Given the description of an element on the screen output the (x, y) to click on. 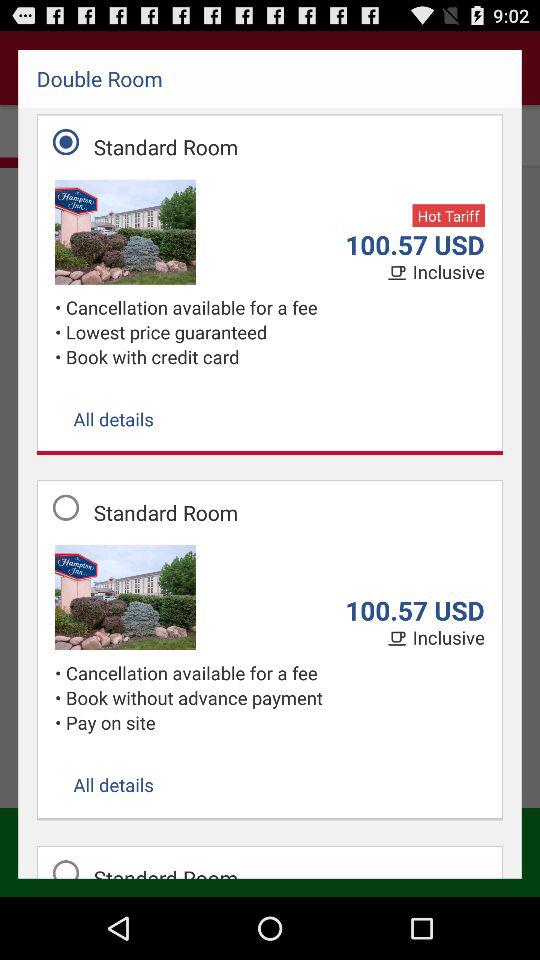
press the lowest price guaranteed icon (275, 331)
